Given the description of an element on the screen output the (x, y) to click on. 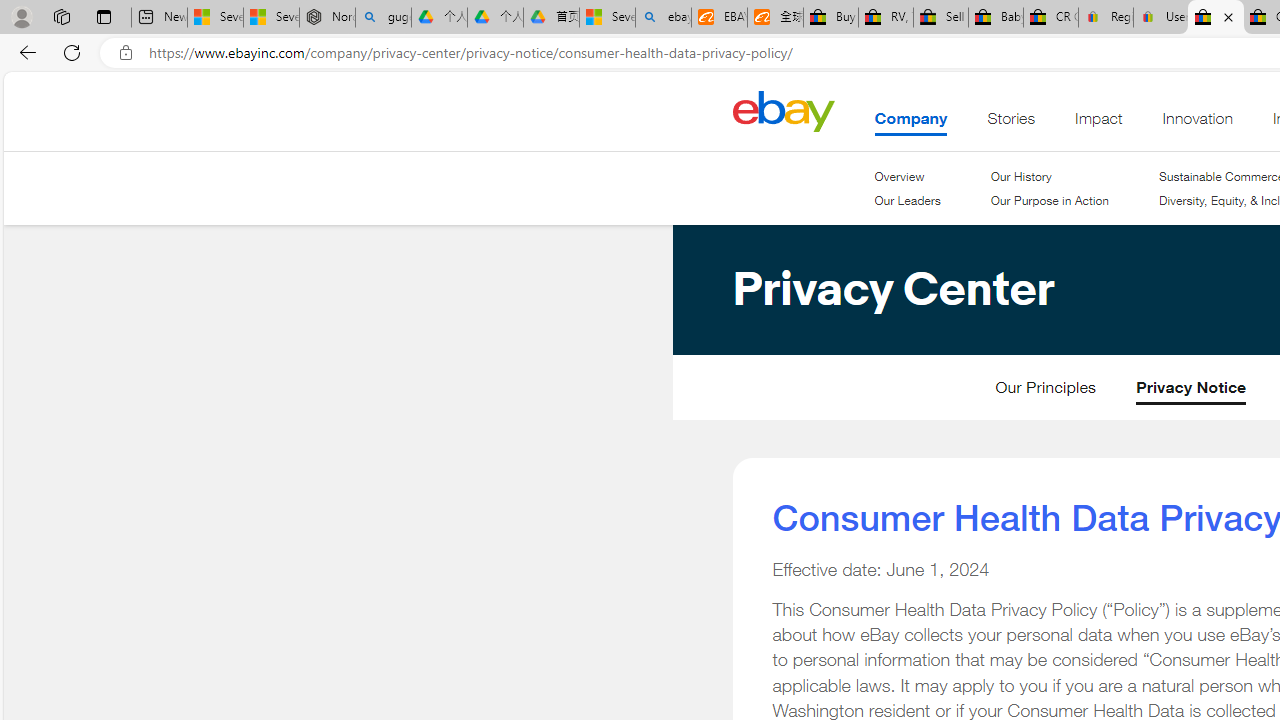
Impact (1098, 123)
Stories (1010, 123)
Home (783, 110)
Baby Keepsakes & Announcements for sale | eBay (995, 17)
Privacy Notice (1191, 391)
User Privacy Notice | eBay (1160, 17)
Home (783, 110)
Overview (907, 176)
Our History (1020, 176)
Buy Auto Parts & Accessories | eBay (830, 17)
Register: Create a personal eBay account (1105, 17)
